Given the description of an element on the screen output the (x, y) to click on. 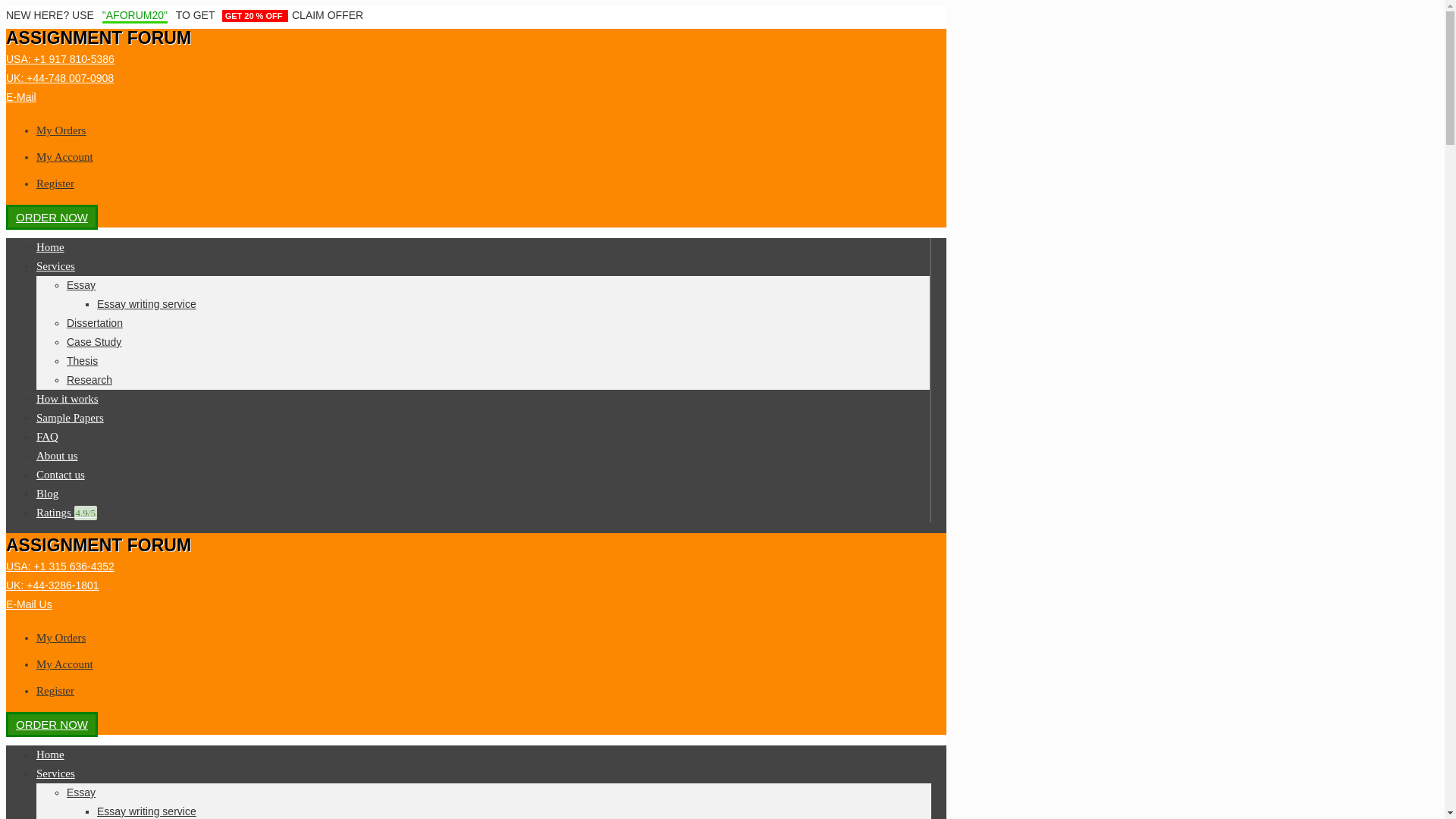
Home (50, 754)
How it works (67, 398)
Essay writing service (146, 811)
My Orders (60, 637)
Thesis (81, 360)
ASSIGNMENT FORUM (97, 37)
FAQ (47, 436)
My Orders (60, 130)
ORDER NOW (51, 217)
ASSIGNMENT FORUM (97, 545)
